Given the description of an element on the screen output the (x, y) to click on. 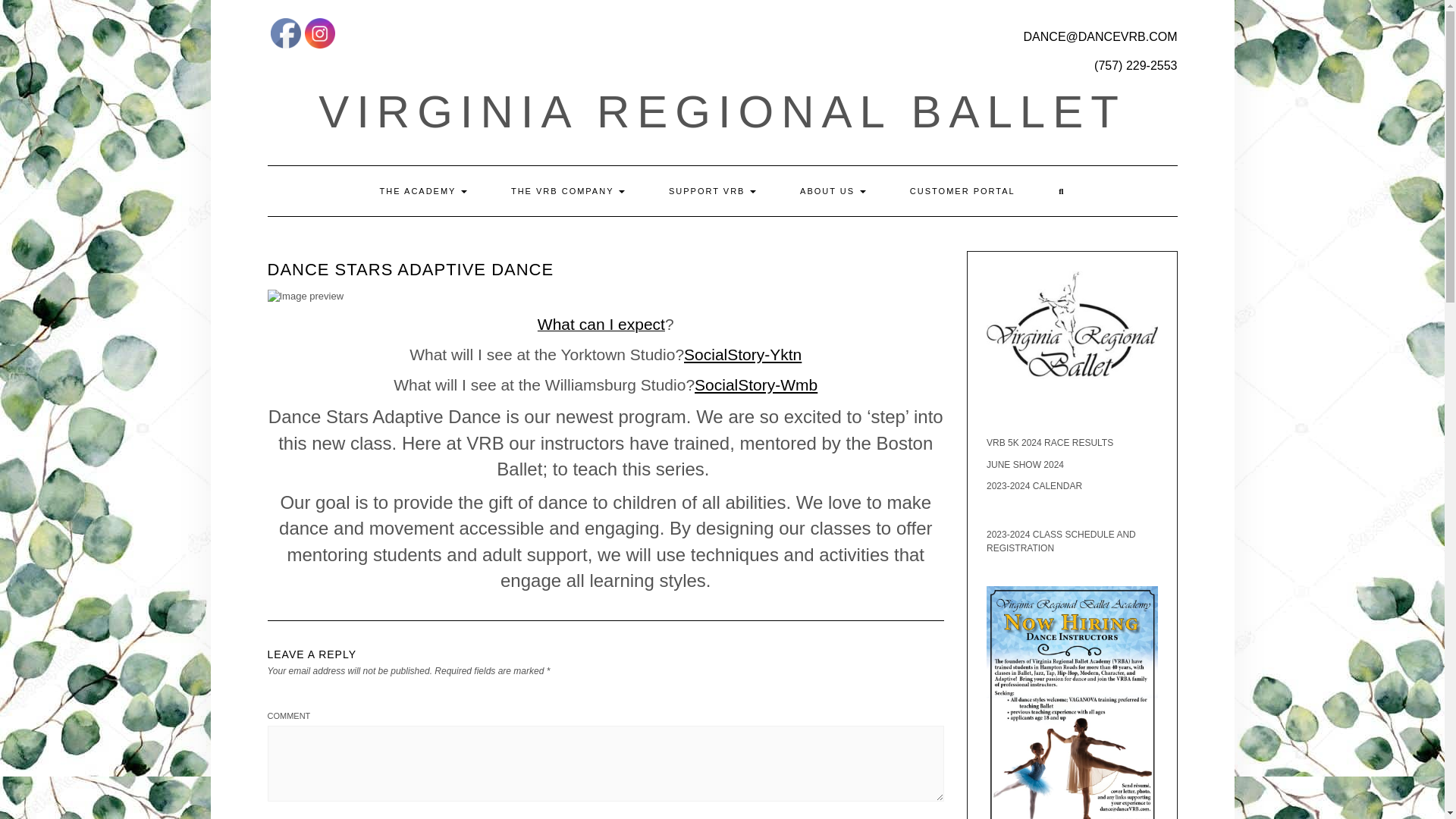
THE ACADEMY (423, 191)
2023-2024 CALENDAR (1034, 485)
SocialStory-Yktn (743, 354)
VRB Instagram Page (319, 33)
CUSTOMER PORTAL (962, 191)
VRB 5K 2024 RACE RESULTS (1050, 442)
ABOUT US (832, 191)
VRB Facebook Page (284, 33)
What can I expect (601, 326)
SUPPORT VRB (712, 191)
VIRGINIA REGIONAL BALLET (721, 111)
JUNE SHOW 2024 (1025, 464)
SocialStory-Wmb (755, 384)
2023-2024 CLASS SCHEDULE AND REGISTRATION (1061, 541)
THE VRB COMPANY (567, 191)
